Given the description of an element on the screen output the (x, y) to click on. 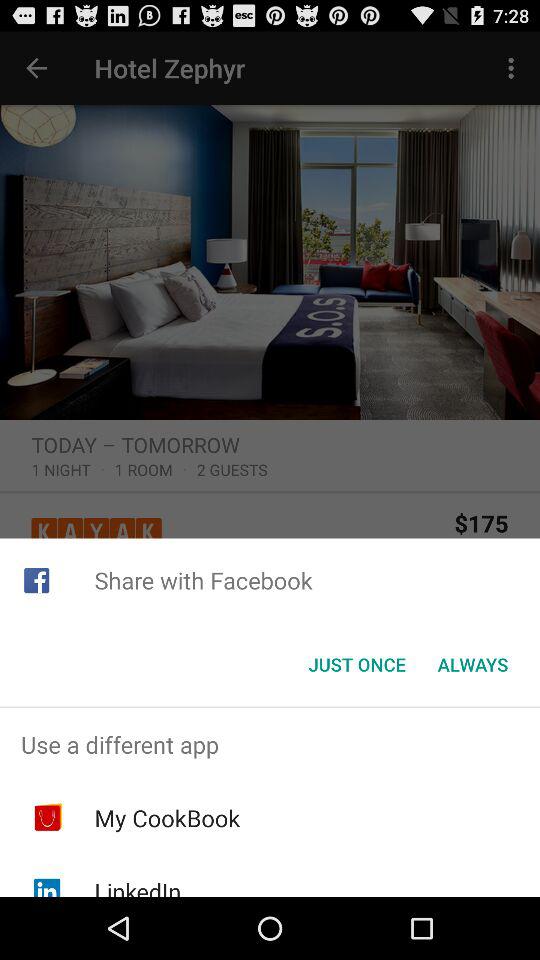
choose app below my cookbook app (137, 885)
